Given the description of an element on the screen output the (x, y) to click on. 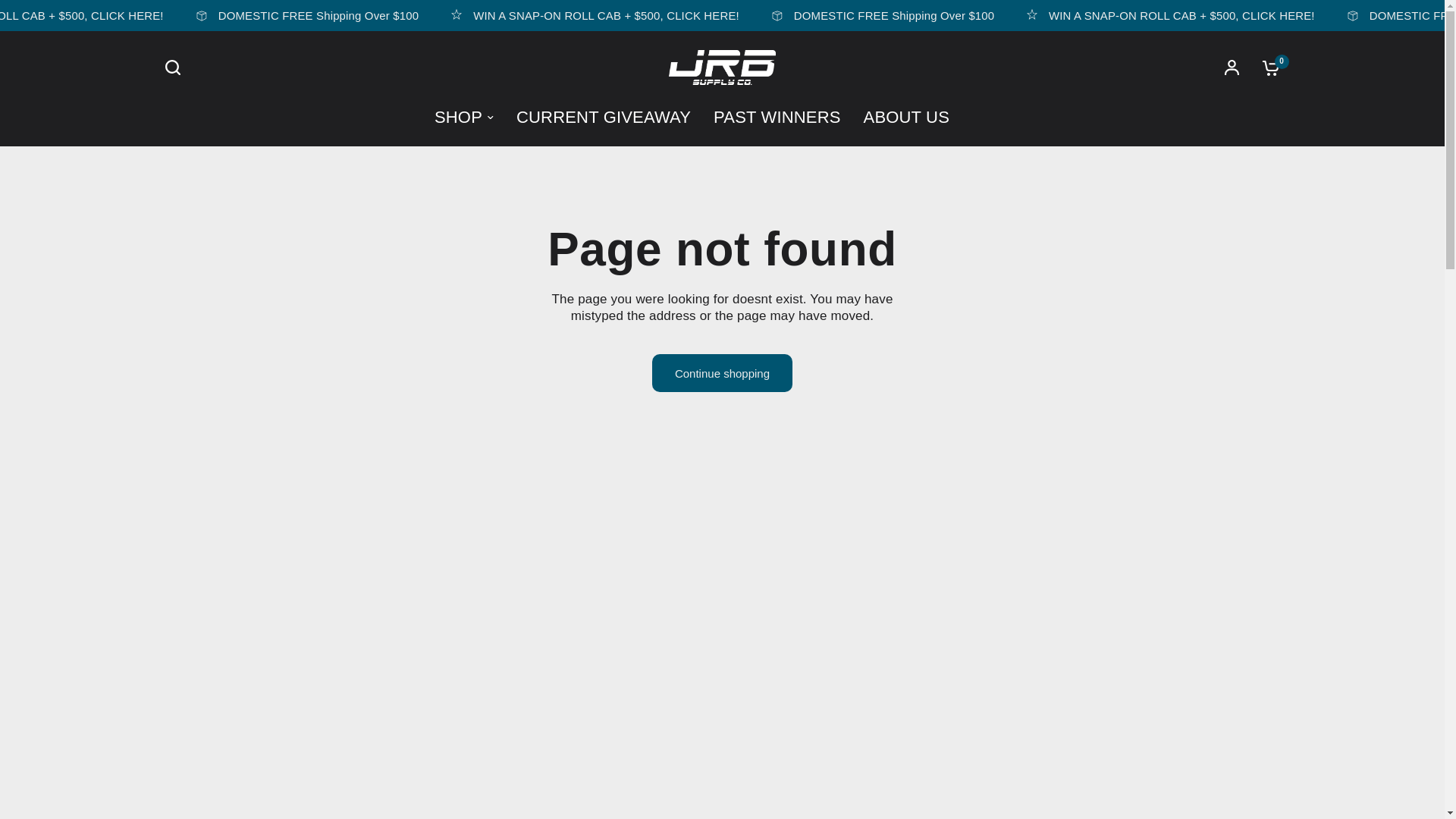
Search (171, 67)
SHOP (463, 117)
My Account (1231, 67)
Continue shopping (722, 372)
ABOUT US (906, 117)
PAST WINNERS (776, 117)
0 (1269, 67)
CURRENT GIVEAWAY (603, 117)
